Given the description of an element on the screen output the (x, y) to click on. 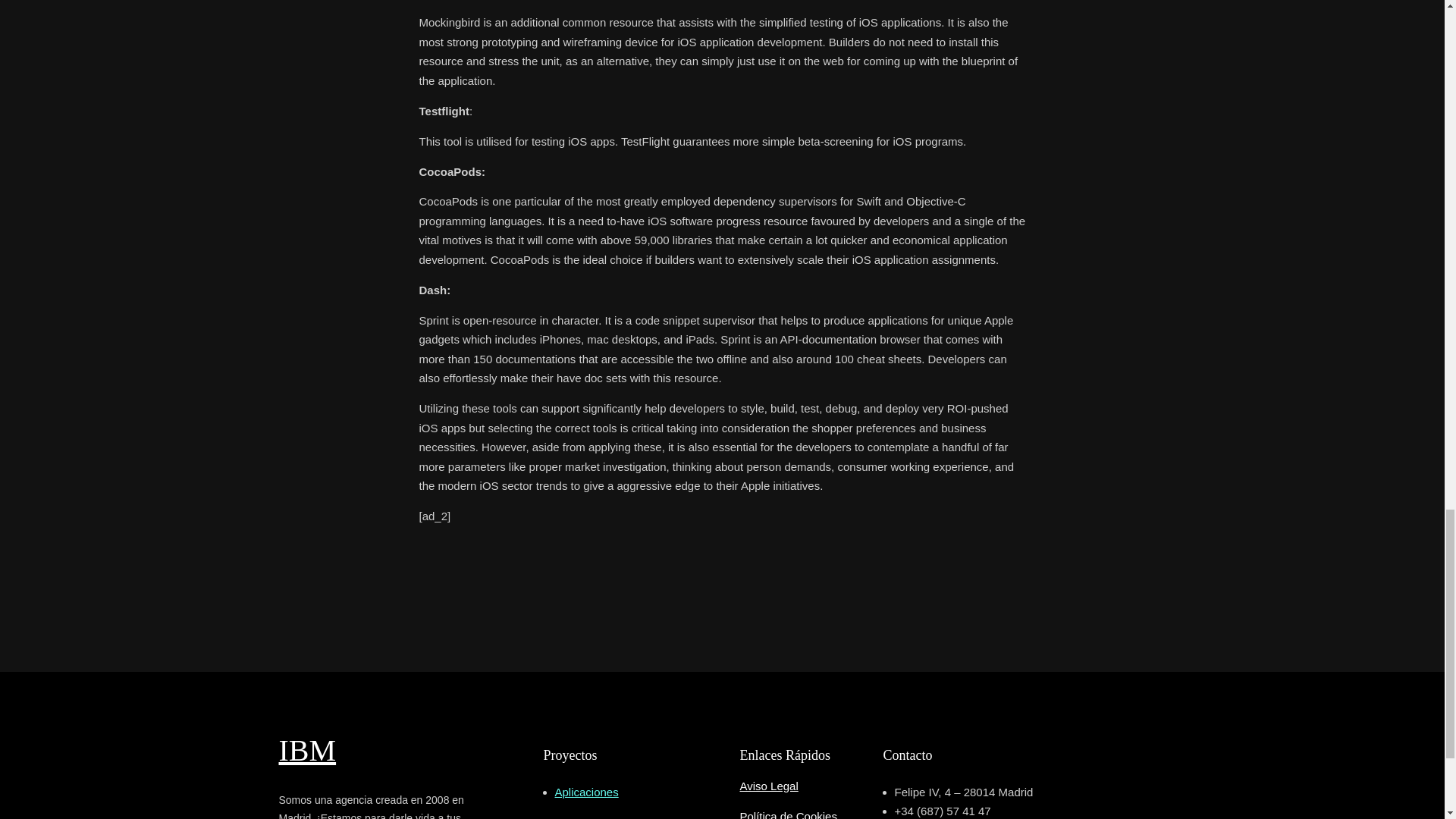
IBM (307, 750)
Aviso Legal (768, 785)
Aplicaciones (586, 791)
